Given the description of an element on the screen output the (x, y) to click on. 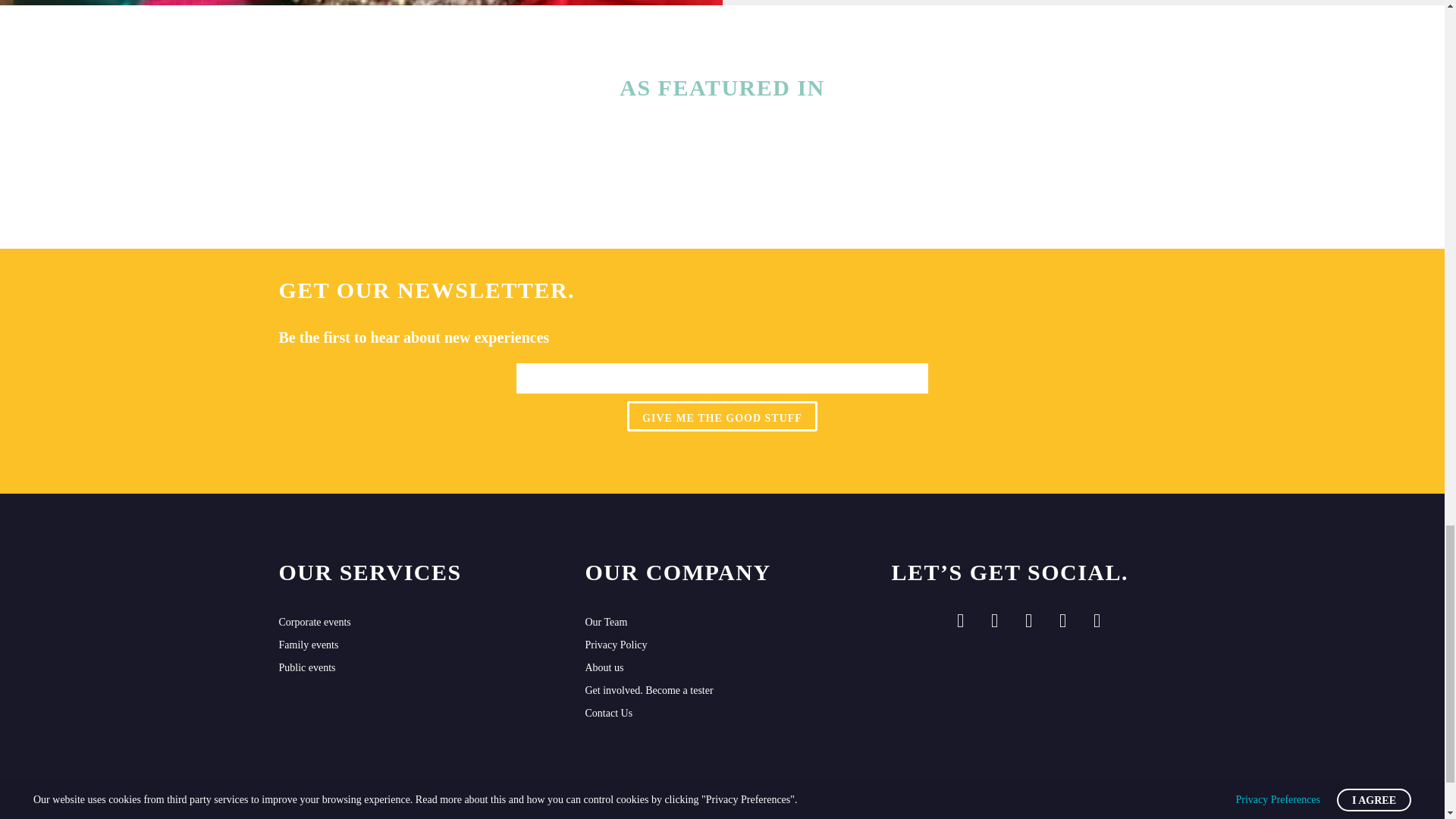
Corporate events (416, 621)
Our Team (722, 621)
Give me the good stuff (721, 416)
About us (722, 667)
Give me the good stuff (721, 416)
Get involved. Become a tester (722, 690)
Get involved. Become a tester (722, 690)
Privacy Policy (722, 644)
Family events (416, 644)
Contact Us (722, 712)
Our Team (722, 621)
Public events (416, 667)
